Given the description of an element on the screen output the (x, y) to click on. 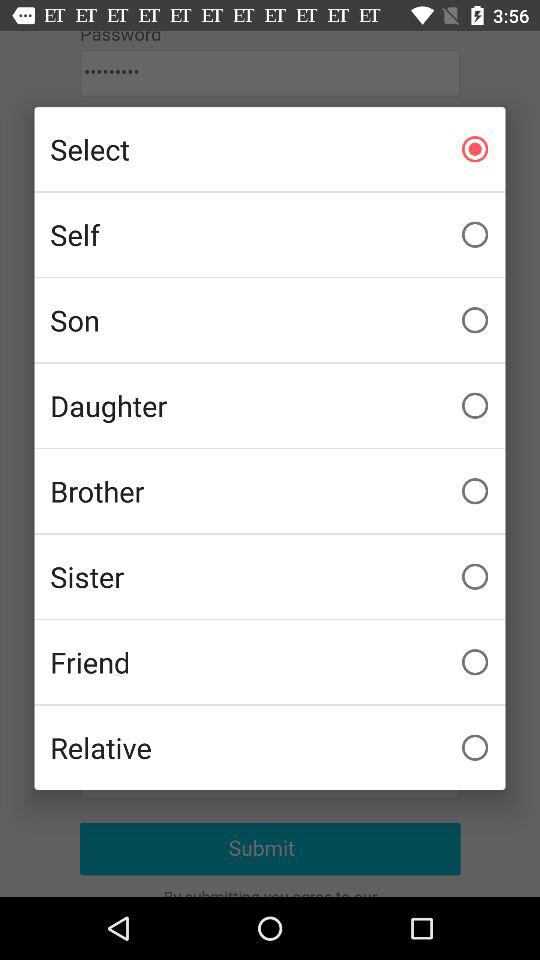
select the brother item (269, 491)
